Given the description of an element on the screen output the (x, y) to click on. 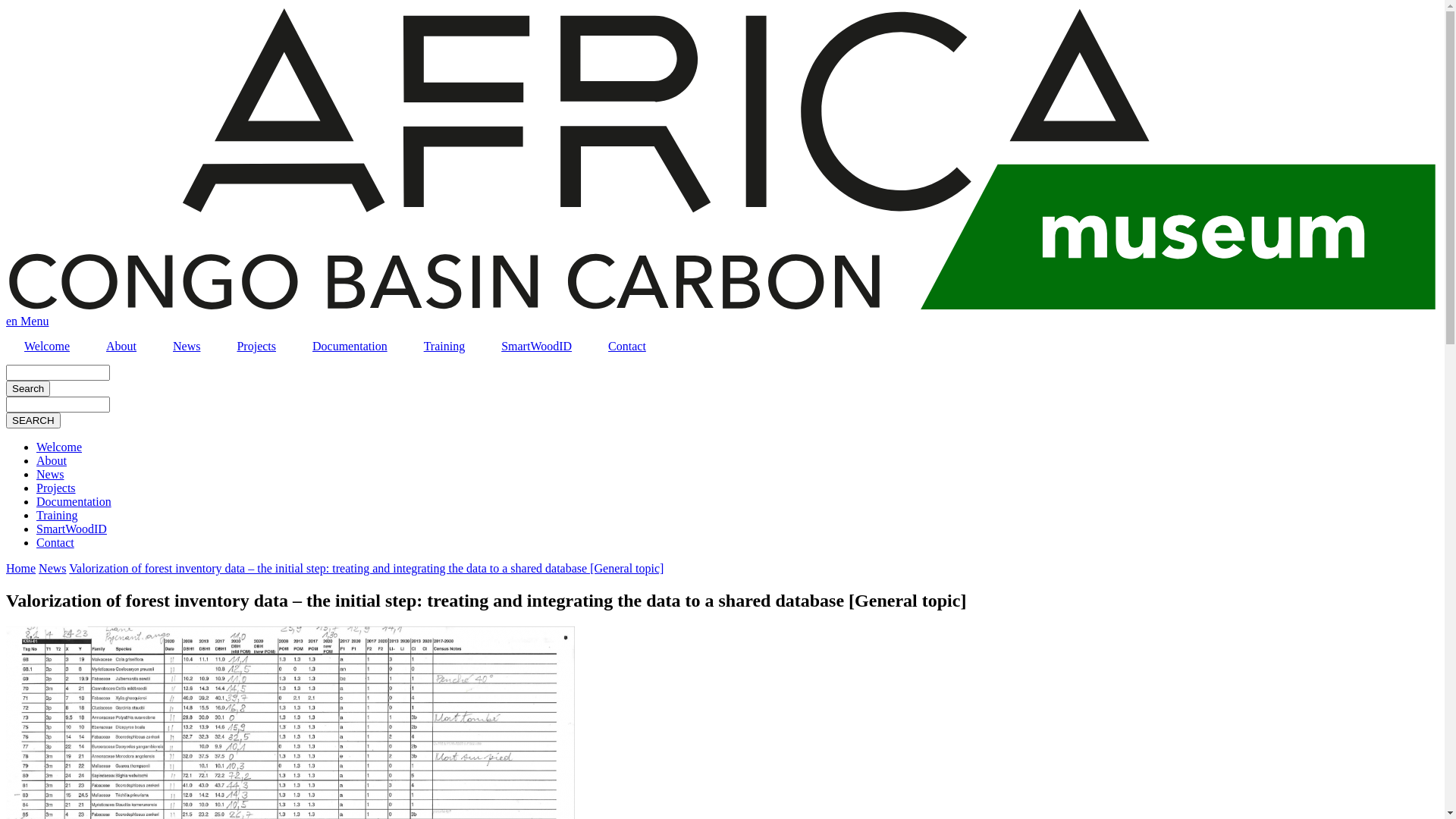
Skip to main content Element type: text (6, 6)
SEARCH Element type: text (33, 420)
News Element type: text (49, 473)
Projects Element type: text (256, 346)
Training Element type: text (444, 346)
News Element type: text (51, 567)
Training Element type: text (57, 514)
Welcome Element type: text (58, 446)
Welcome Element type: text (46, 346)
About Element type: text (51, 460)
Contact Element type: text (55, 542)
Projects Element type: text (55, 487)
SmartWoodID Element type: text (71, 528)
Search Element type: text (28, 388)
Documentation Element type: text (349, 346)
Enter the terms you wish to search for. Element type: hover (57, 404)
en
Language Element type: text (13, 320)
Documentation Element type: text (73, 501)
SmartWoodID Element type: text (536, 346)
Enter the terms you wish to search for. Element type: hover (57, 372)
Menu Element type: text (34, 320)
News Element type: text (186, 346)
About Element type: text (120, 346)
Home Element type: text (20, 567)
Contact Element type: text (626, 346)
